Given the description of an element on the screen output the (x, y) to click on. 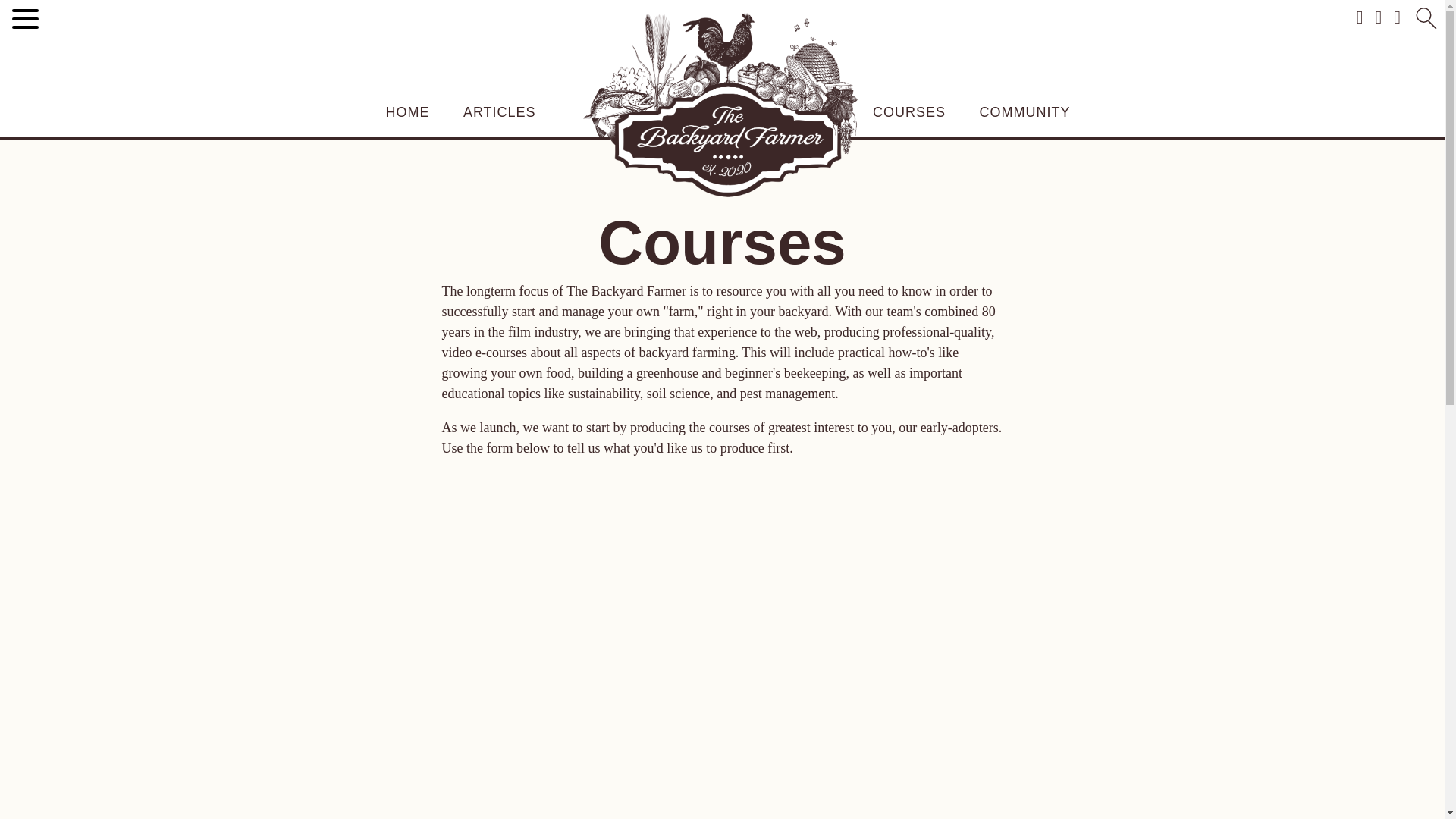
COURSES (908, 111)
ARTICLES (499, 111)
COMMUNITY (1024, 111)
Subscribe (1017, 339)
